Given the description of an element on the screen output the (x, y) to click on. 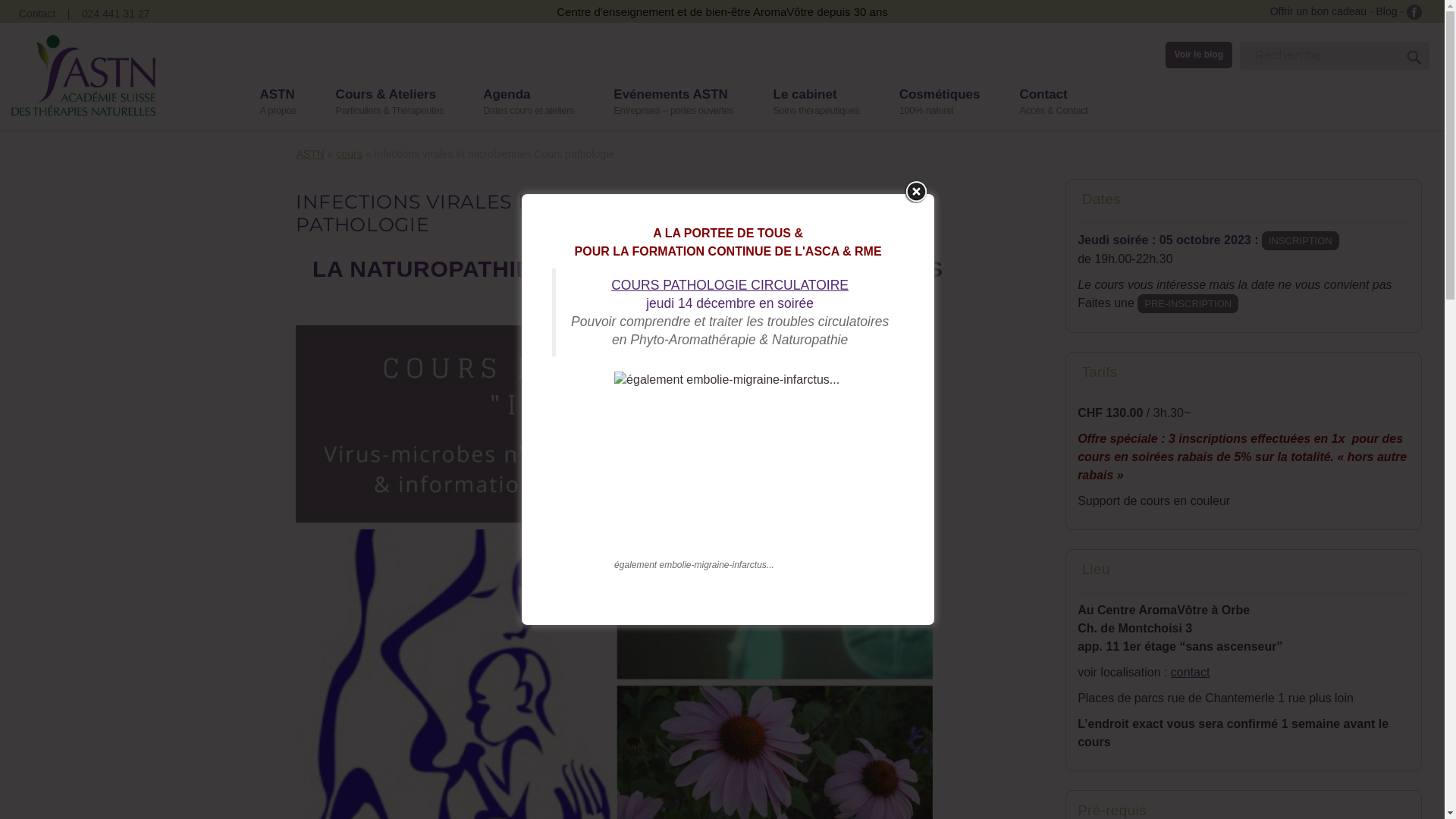
cours Element type: text (348, 153)
Contact Element type: text (36, 13)
Recherche Element type: text (1413, 56)
contact Element type: text (1190, 671)
COURS PATHOLOGIE CIRCULATOIRE Element type: text (729, 284)
INSCRIPTION Element type: text (1300, 239)
ASTN Element type: text (309, 153)
Blog Element type: text (1386, 9)
Offrir un bon cadeau Element type: text (1318, 9)
Recherche pour : Element type: hover (1334, 55)
Voir le blog Element type: text (1198, 54)
ASTN
A propos Element type: text (275, 102)
Fermer Element type: hover (915, 191)
Agenda
Dates cours et ateliers Element type: text (526, 102)
PRE-INSCRIPTION Element type: text (1187, 302)
